Given the description of an element on the screen output the (x, y) to click on. 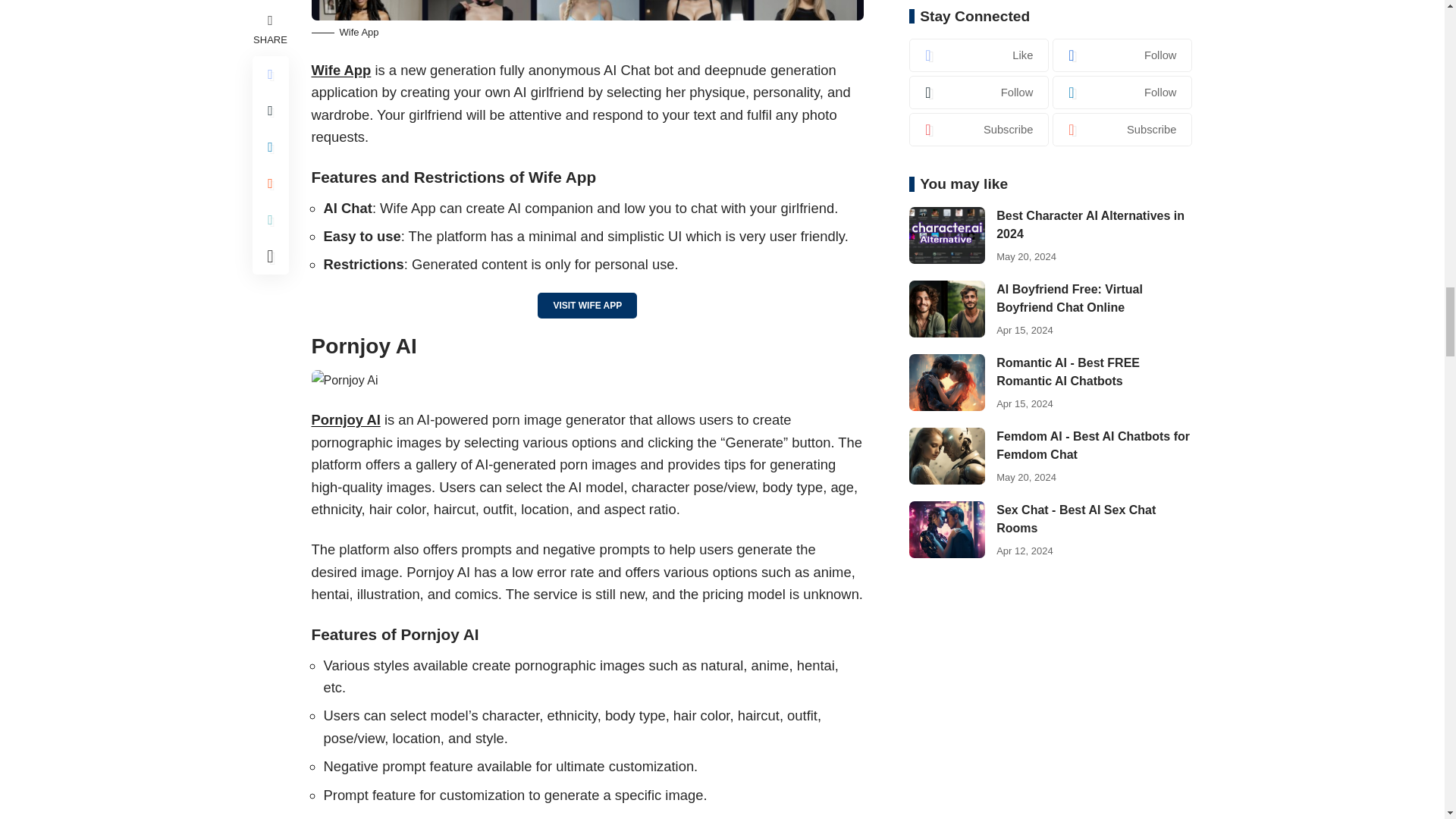
9 Best Janitor Ai Alternatives You Must Try Now (587, 10)
9 Best Janitor Ai Alternatives You Must Try Now (344, 380)
